Given the description of an element on the screen output the (x, y) to click on. 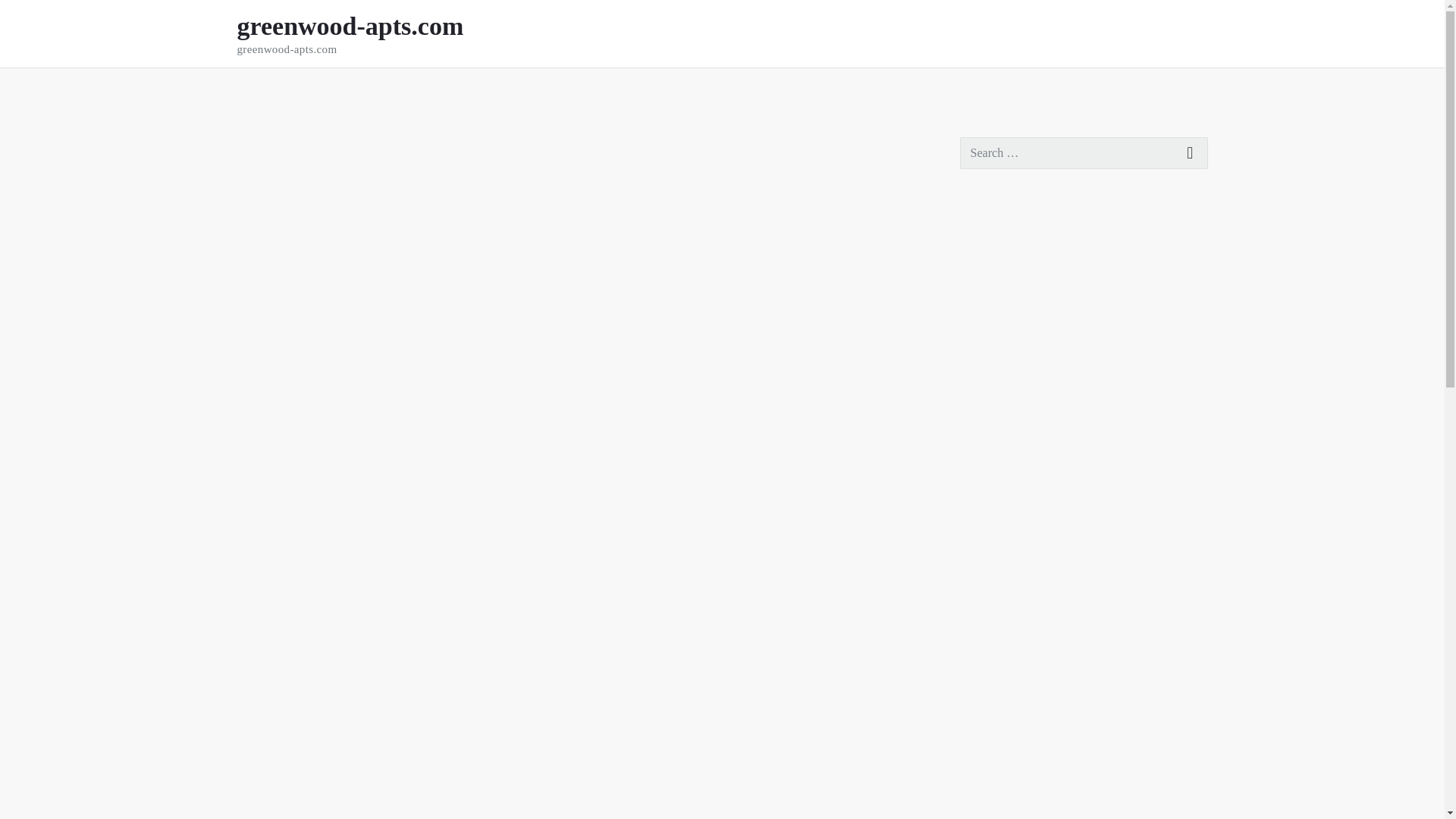
Saturday, May 7, 2022, 1:37 pm (265, 145)
April 2024 (987, 687)
Home (250, 89)
December 2023 (1000, 814)
January 2024 (993, 785)
Posts by greenwood-apts (355, 145)
Keuntungan Bermain Judi Bola dengan Deposit Pulsa (1082, 307)
July 2024 (984, 589)
May 2024 (985, 654)
